Given the description of an element on the screen output the (x, y) to click on. 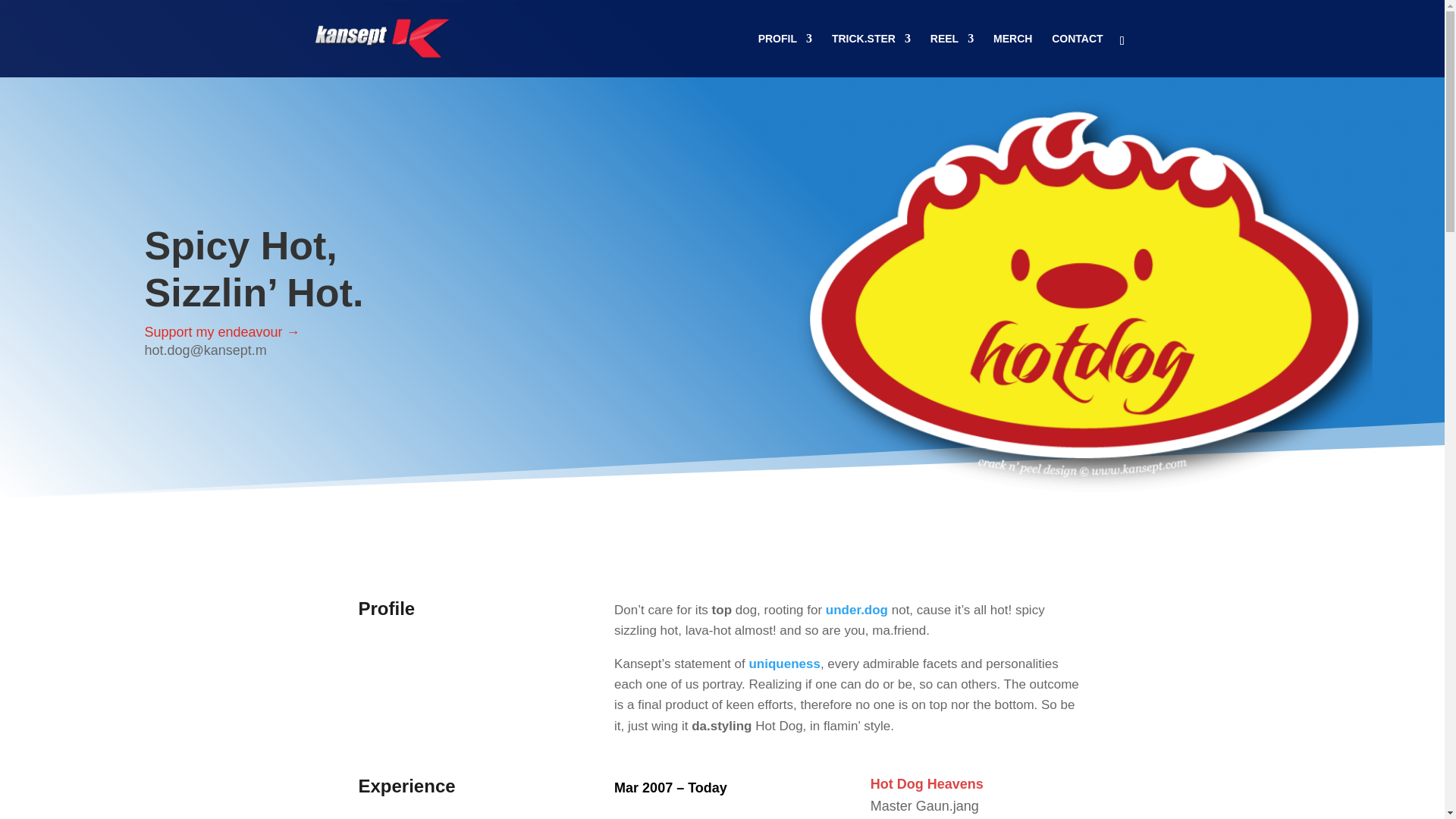
uniqueness (783, 663)
under.dog (856, 609)
PROFIL (785, 54)
REEL (952, 54)
CONTACT (1076, 54)
TRICK.STER (871, 54)
